Given the description of an element on the screen output the (x, y) to click on. 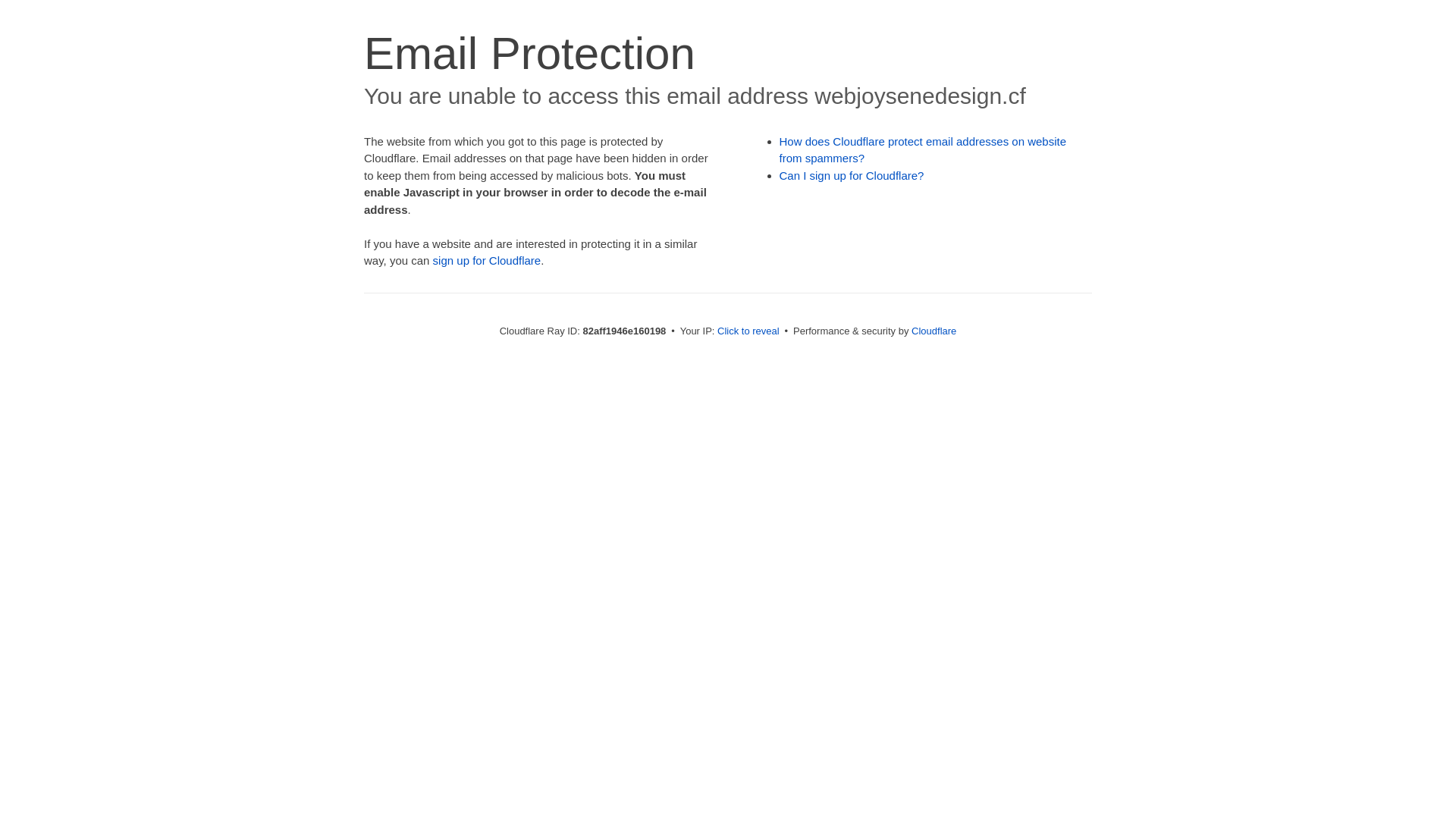
sign up for Cloudflare Element type: text (487, 260)
Can I sign up for Cloudflare? Element type: text (851, 175)
Cloudflare Element type: text (933, 330)
Click to reveal Element type: text (748, 330)
